Given the description of an element on the screen output the (x, y) to click on. 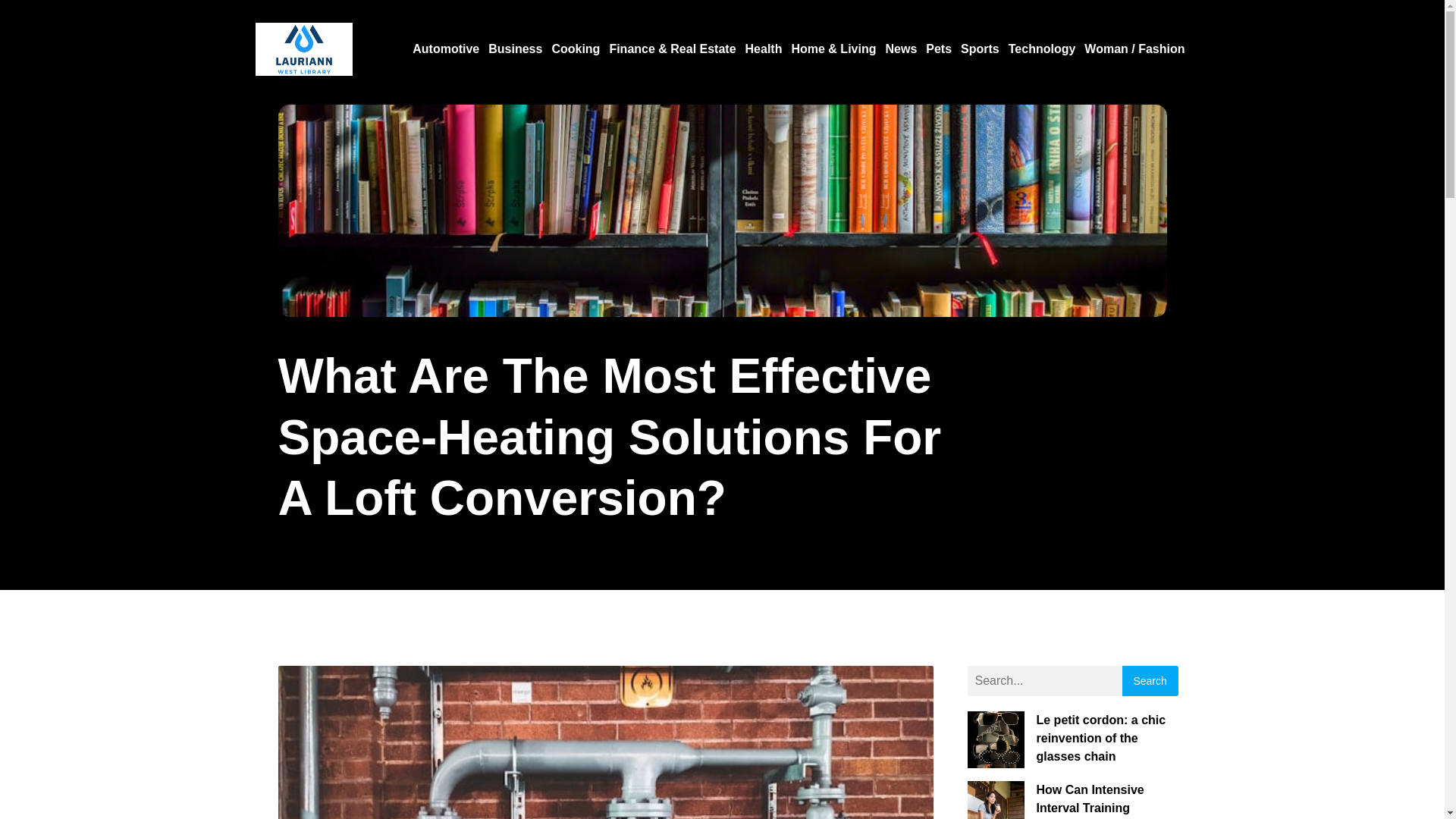
Business (515, 49)
Search (1149, 680)
Pets (938, 49)
Cooking (575, 49)
Technology (1042, 49)
News (900, 49)
Automotive (445, 49)
Health (764, 49)
Le petit cordon: a chic reinvention of the glasses chain (1100, 737)
Sports (980, 49)
